Given the description of an element on the screen output the (x, y) to click on. 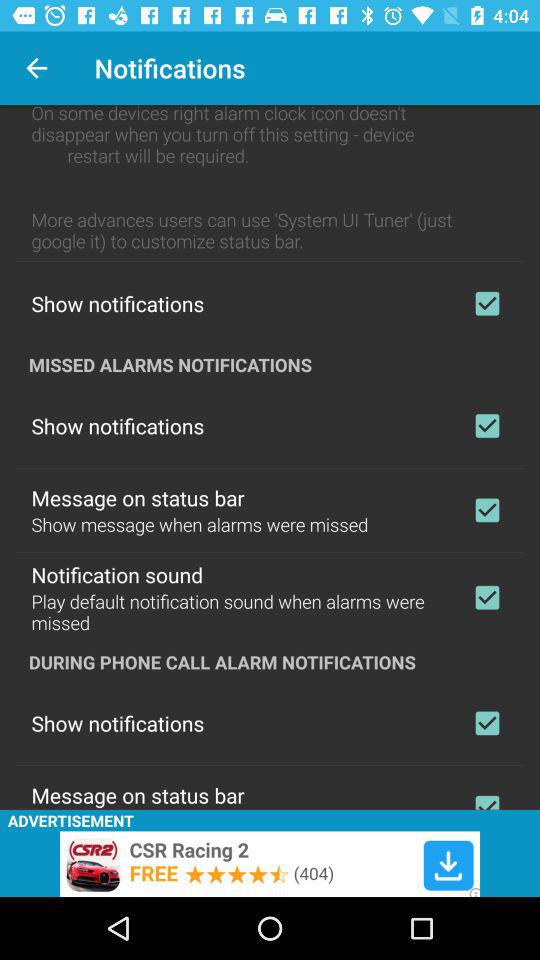
toggle showing notifications (487, 426)
